Given the description of an element on the screen output the (x, y) to click on. 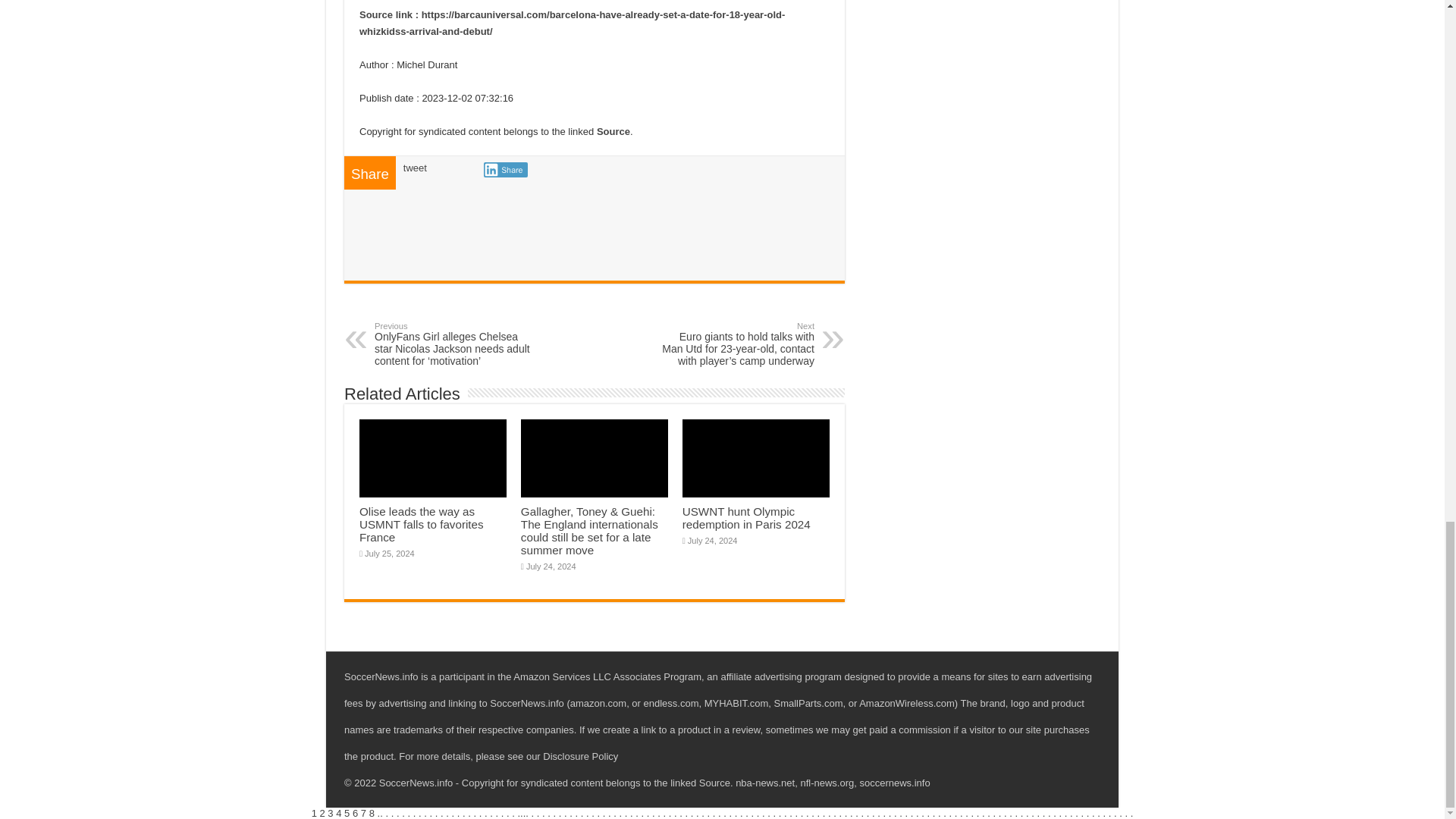
Source (613, 131)
Share (505, 169)
tweet (414, 167)
Olise leads the way as USMNT falls to favorites France (421, 524)
USWNT hunt Olympic redemption in Paris 2024 (746, 517)
